Given the description of an element on the screen output the (x, y) to click on. 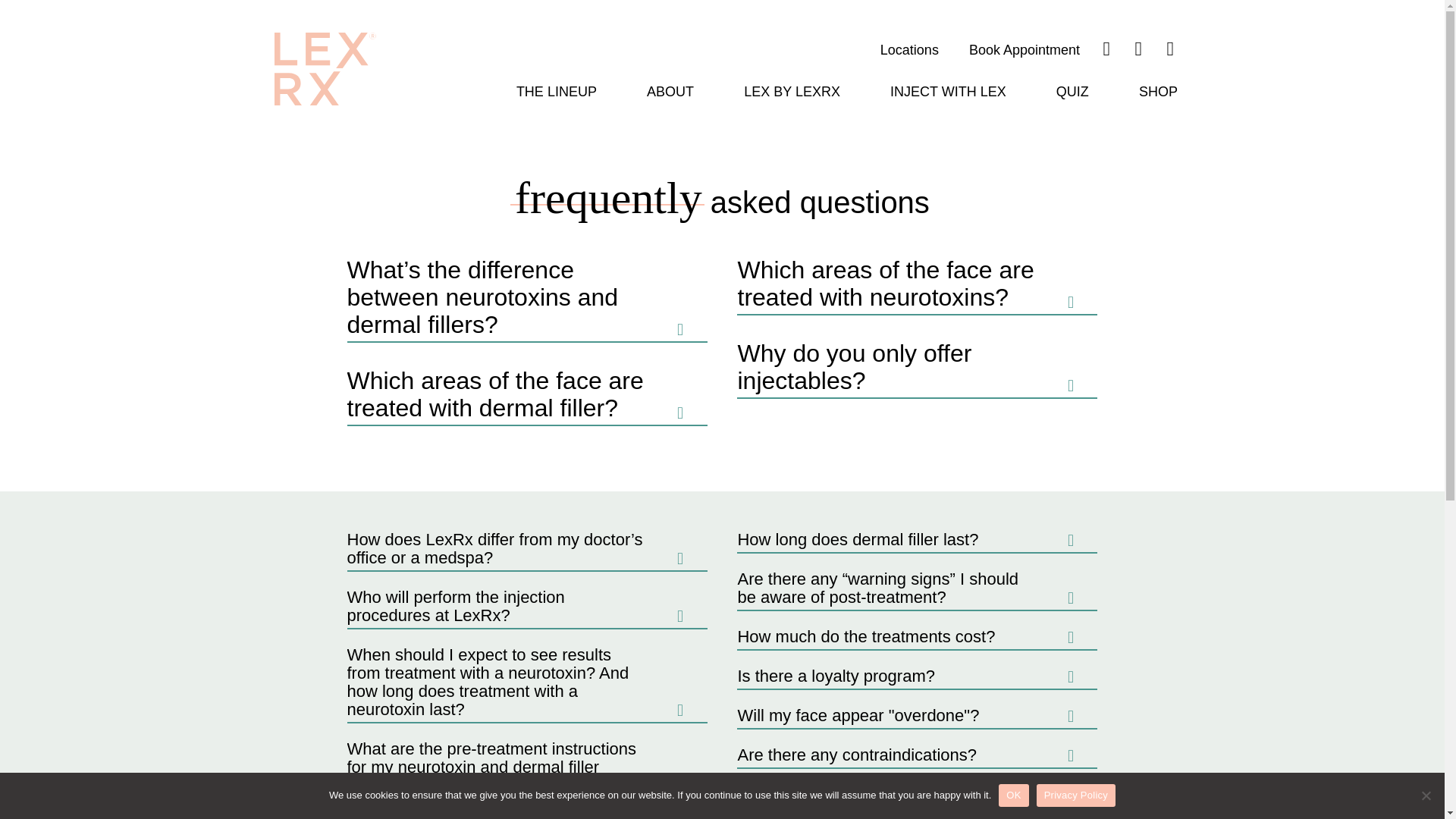
THE LINEUP (555, 91)
LEX BY LEXRX (791, 91)
No (1425, 795)
Locations (909, 49)
Book Appointment (1024, 49)
ABOUT (670, 91)
LEXRX (325, 68)
